Given the description of an element on the screen output the (x, y) to click on. 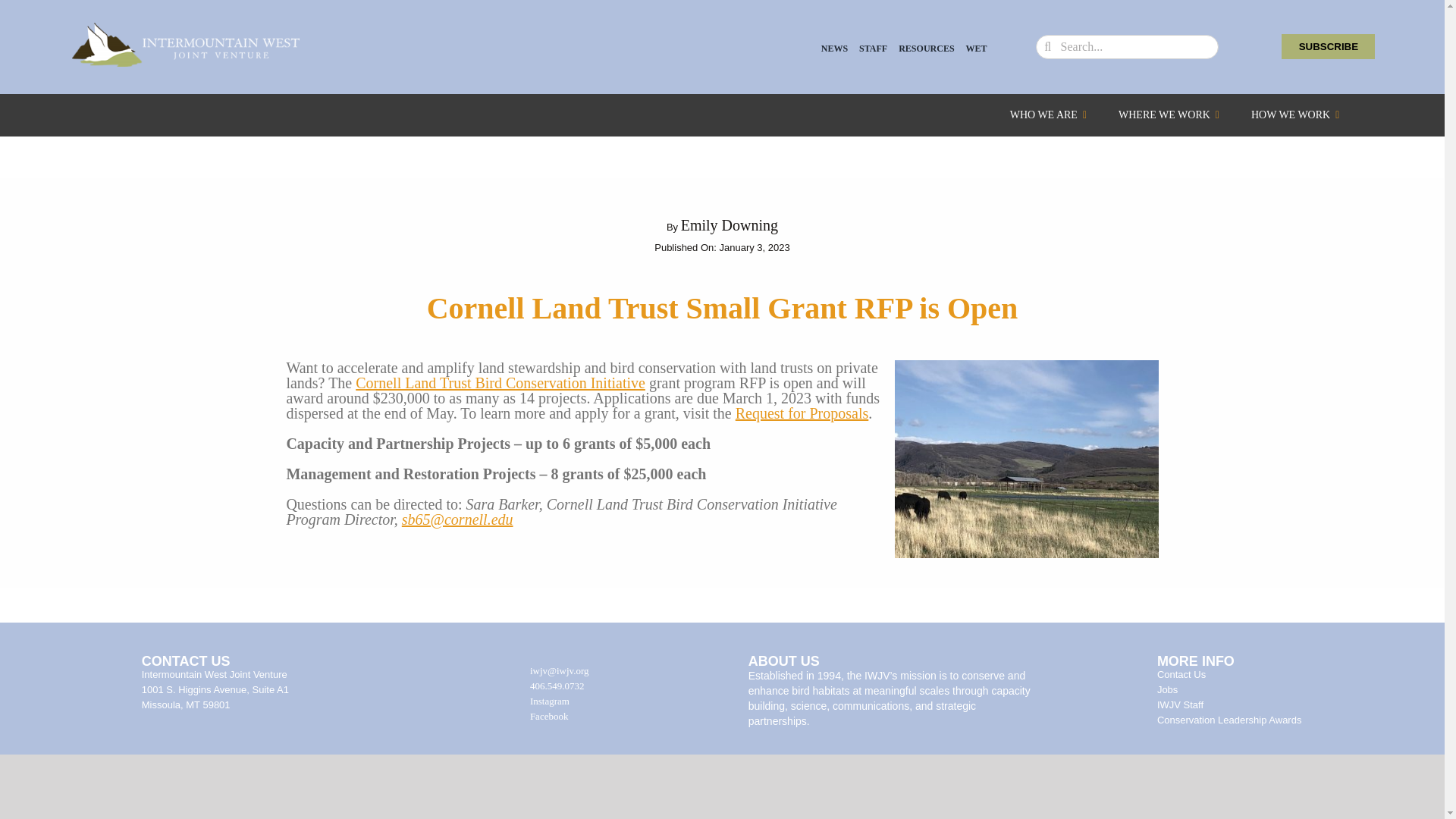
STAFF (872, 48)
NEWS (834, 48)
SUBSCRIBE (1327, 46)
WHERE WE WORK (1169, 114)
RESOURCES (925, 48)
Posts by Emily Downing (729, 225)
WET (976, 48)
HOW WE WORK (1294, 114)
WHO WE ARE (1048, 114)
